Given the description of an element on the screen output the (x, y) to click on. 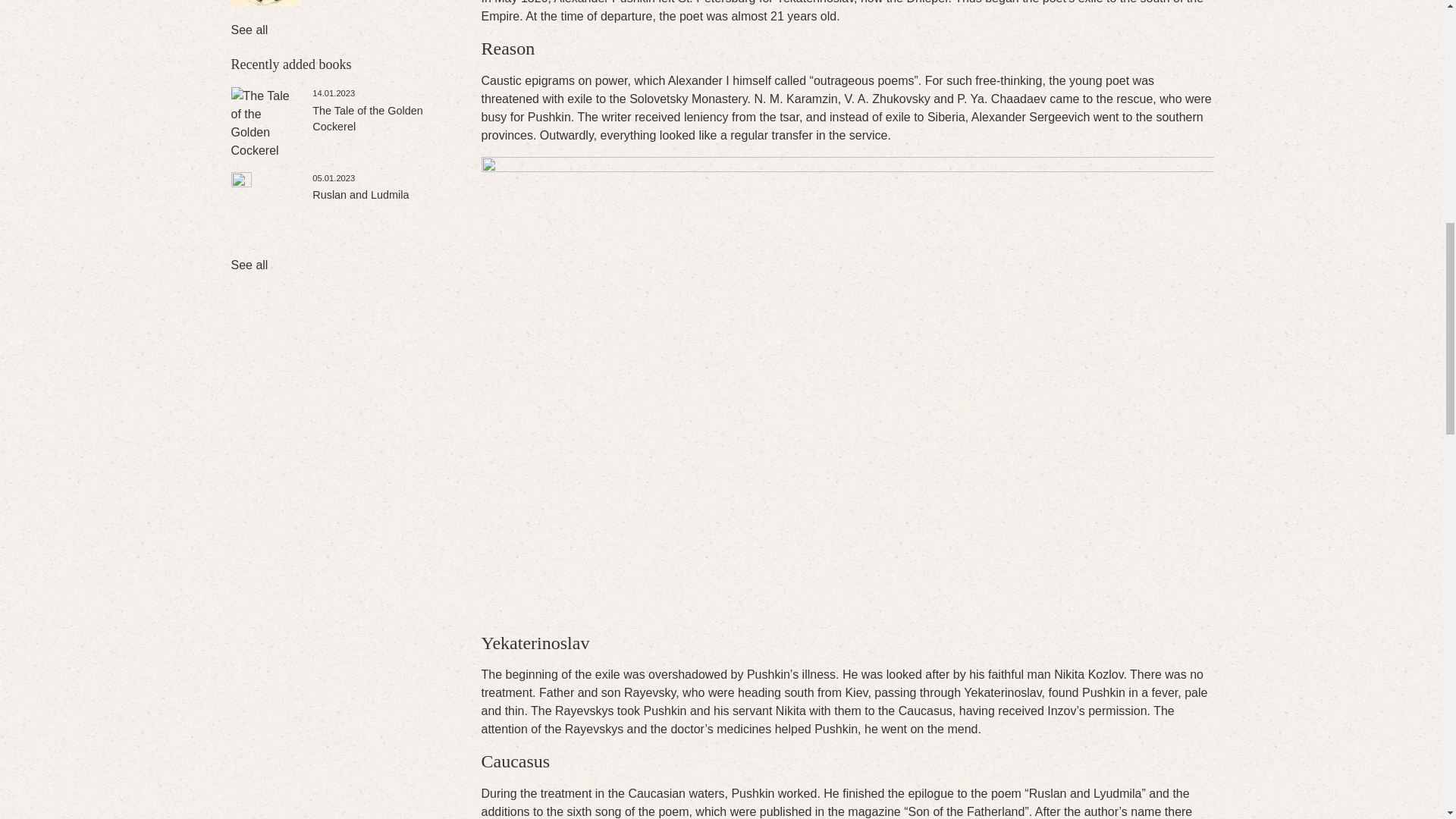
See all (248, 30)
See all (248, 265)
